Given the description of an element on the screen output the (x, y) to click on. 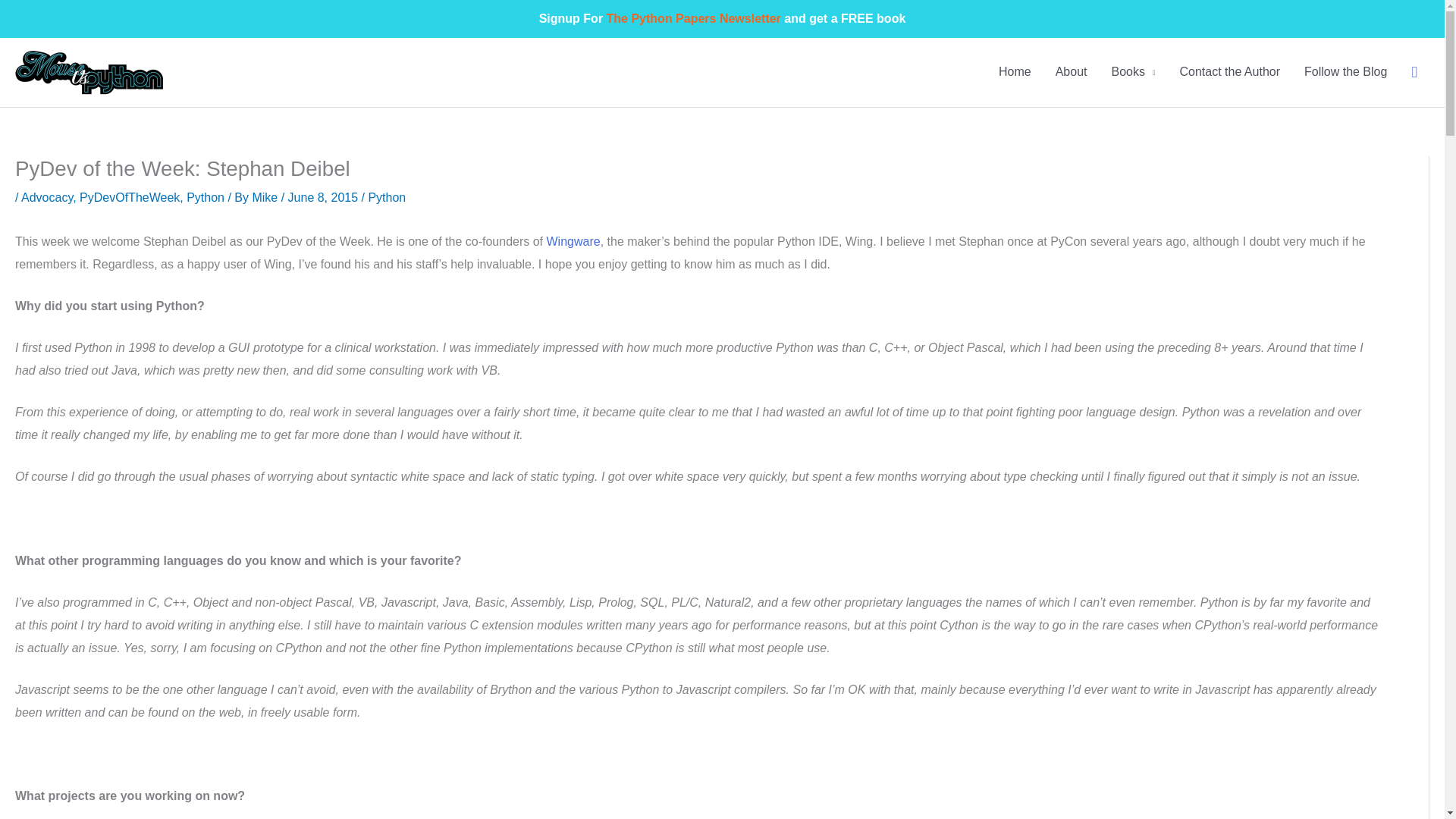
Python (205, 196)
Books (1133, 72)
PyDevOfTheWeek (129, 196)
Follow the Blog (1345, 72)
Advocacy (46, 196)
Wingware (573, 241)
Contact the Author (1229, 72)
Mike (266, 196)
The Python Papers Newsletter (693, 18)
View all posts by Mike (266, 196)
